Given the description of an element on the screen output the (x, y) to click on. 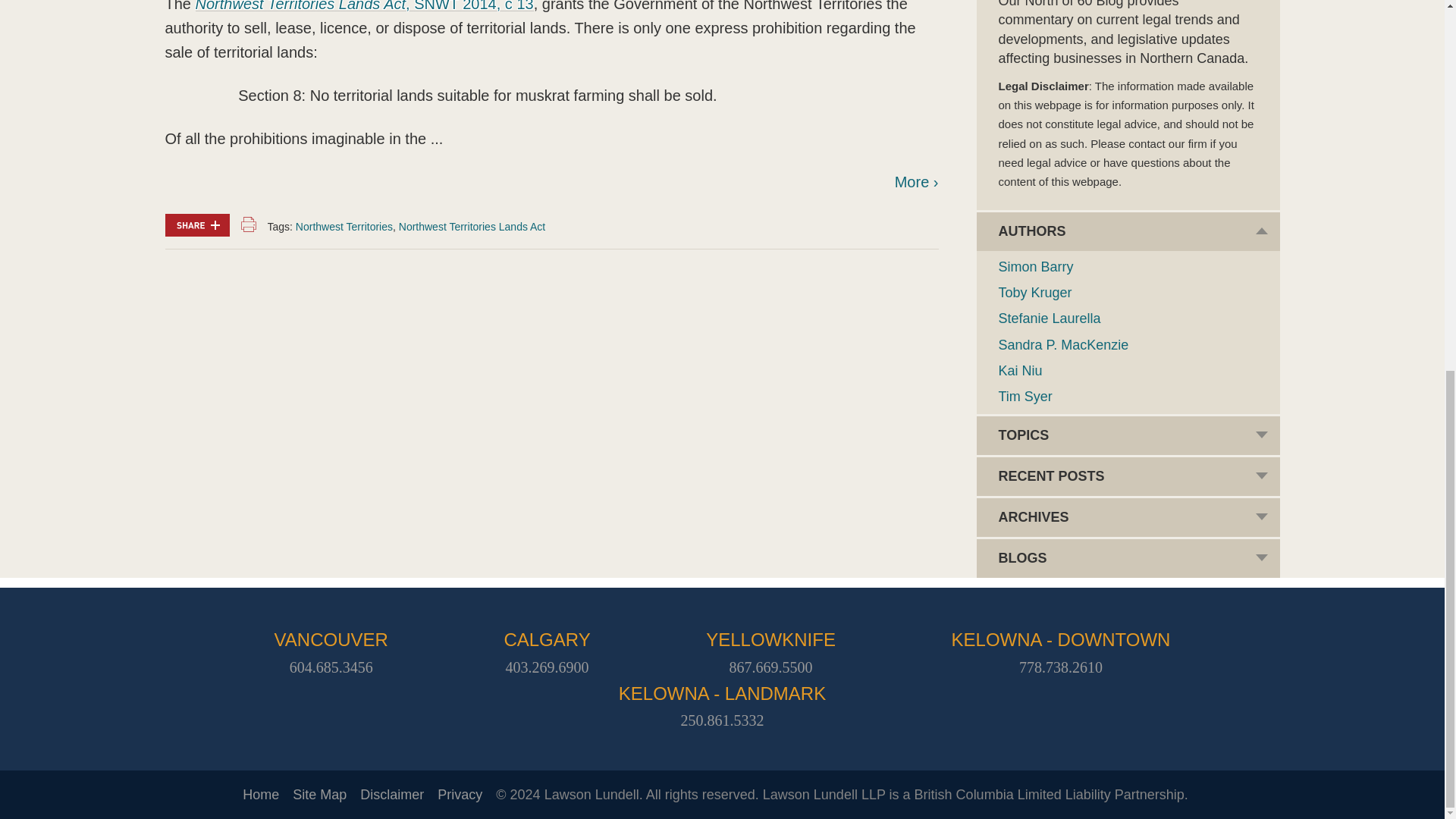
Toby Kruger (1034, 292)
Share (197, 224)
Northwest Territories (344, 226)
Kai Niu (1019, 370)
Simon Barry (1035, 266)
Northwest Territories Lands Act (472, 226)
Sandra P. MacKenzie (1062, 344)
Tim Syer (1024, 396)
Northwest Territories Lands Act, SNWT 2014, c 13 (364, 6)
Stefanie Laurella (1048, 318)
